Given the description of an element on the screen output the (x, y) to click on. 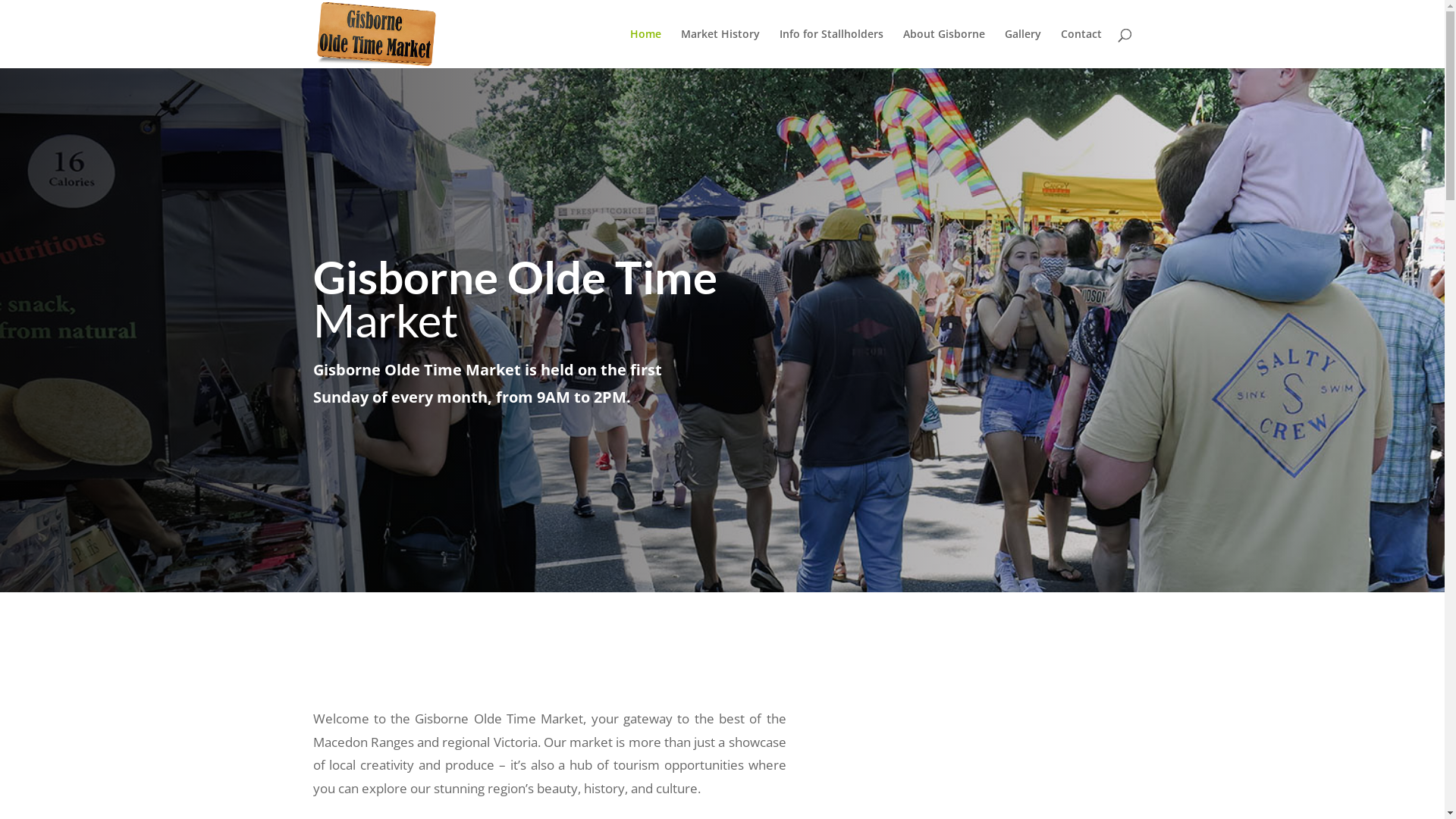
Contact Element type: text (1080, 48)
Info for Stallholders Element type: text (831, 48)
Market History Element type: text (719, 48)
Gallery Element type: text (1022, 48)
Home Element type: text (644, 48)
About Gisborne Element type: text (943, 48)
